Given the description of an element on the screen output the (x, y) to click on. 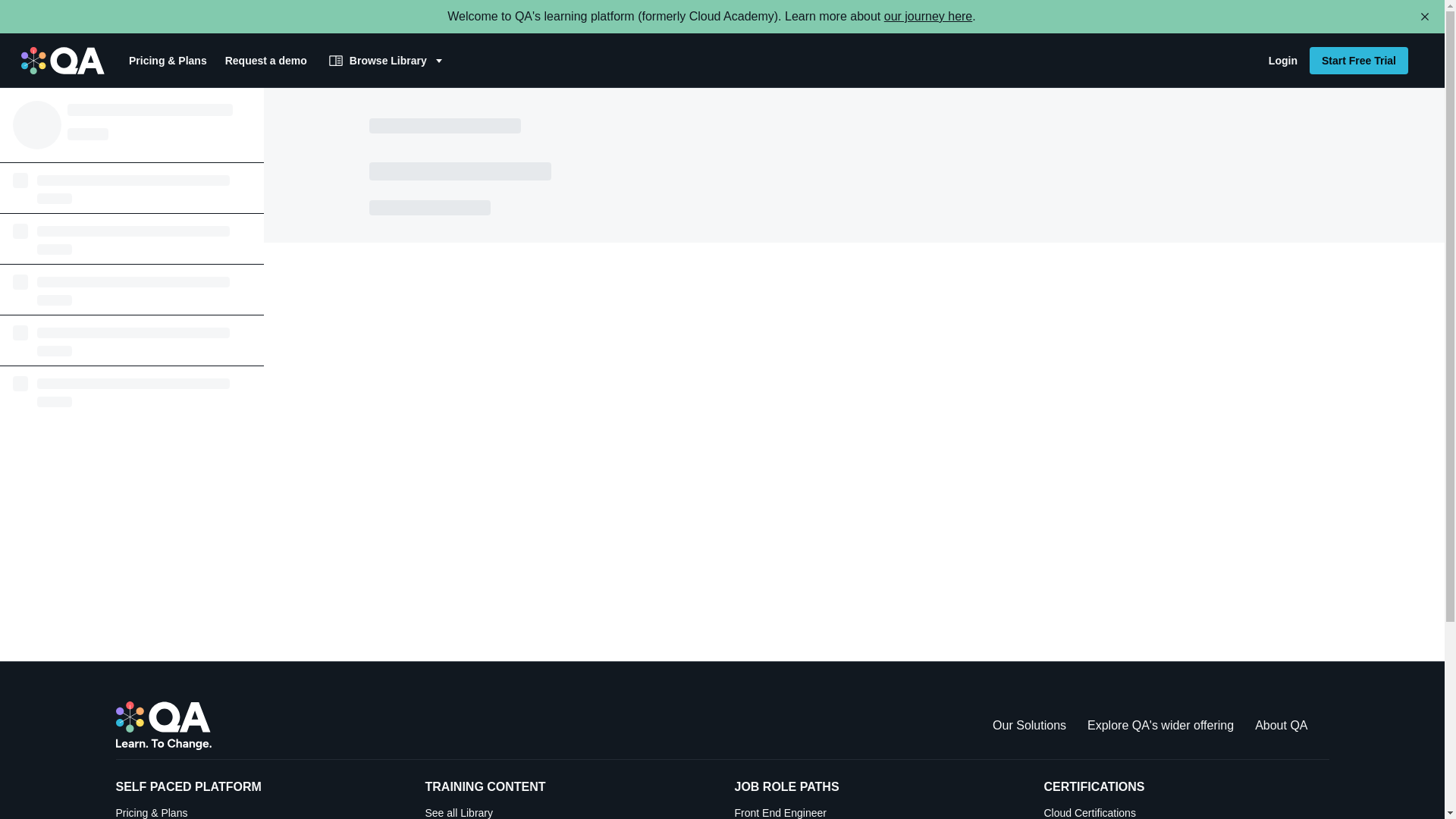
See all Library (567, 812)
Start Free Trial (1357, 60)
Front End Engineer (876, 812)
Browse Library (387, 60)
Explore QA's wider offering (927, 15)
Our Solutions (1160, 725)
Login (1028, 725)
Cloud Certifications (1282, 60)
Request a demo (1185, 812)
